Given the description of an element on the screen output the (x, y) to click on. 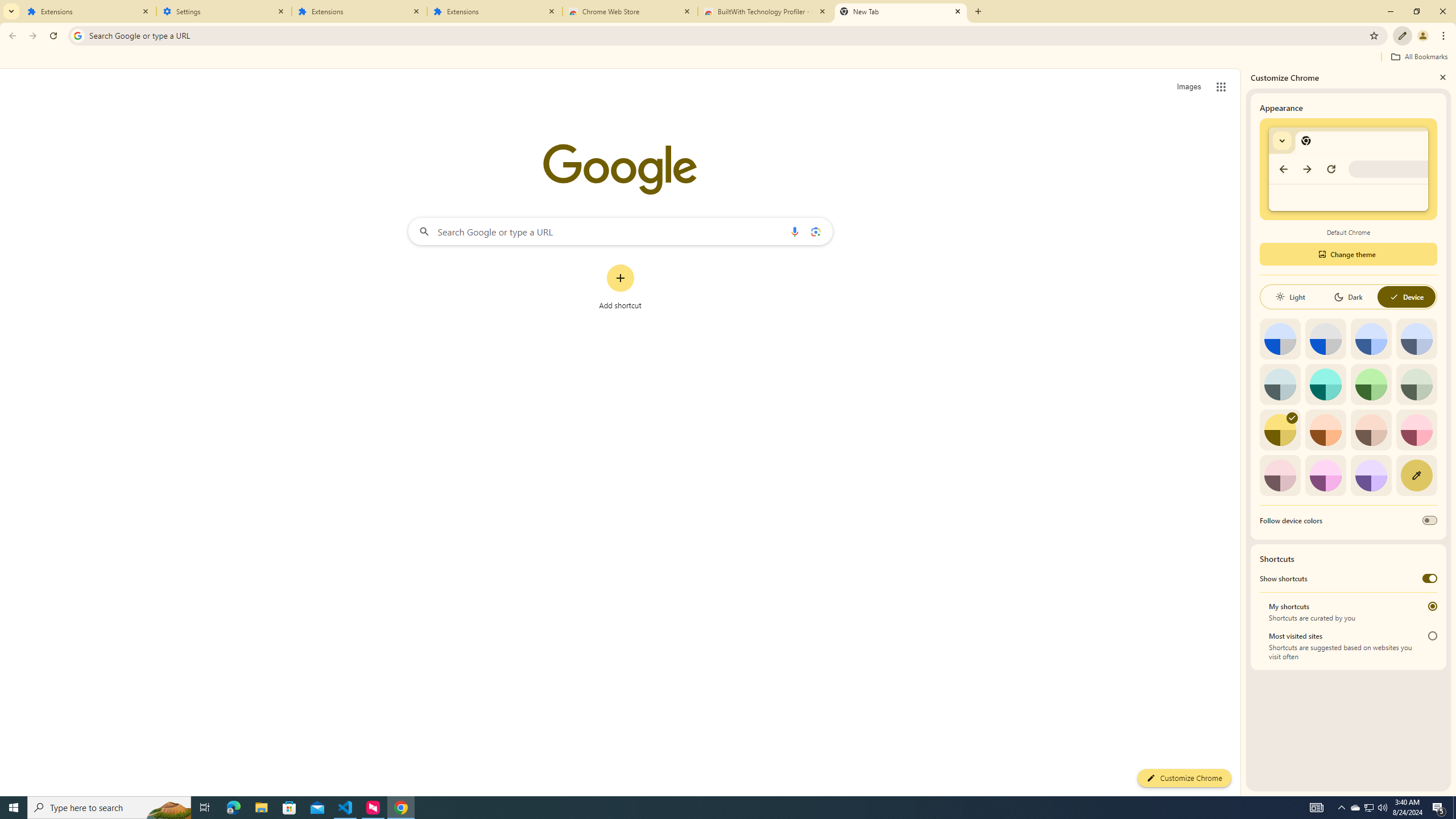
Grey (1279, 383)
